Given the description of an element on the screen output the (x, y) to click on. 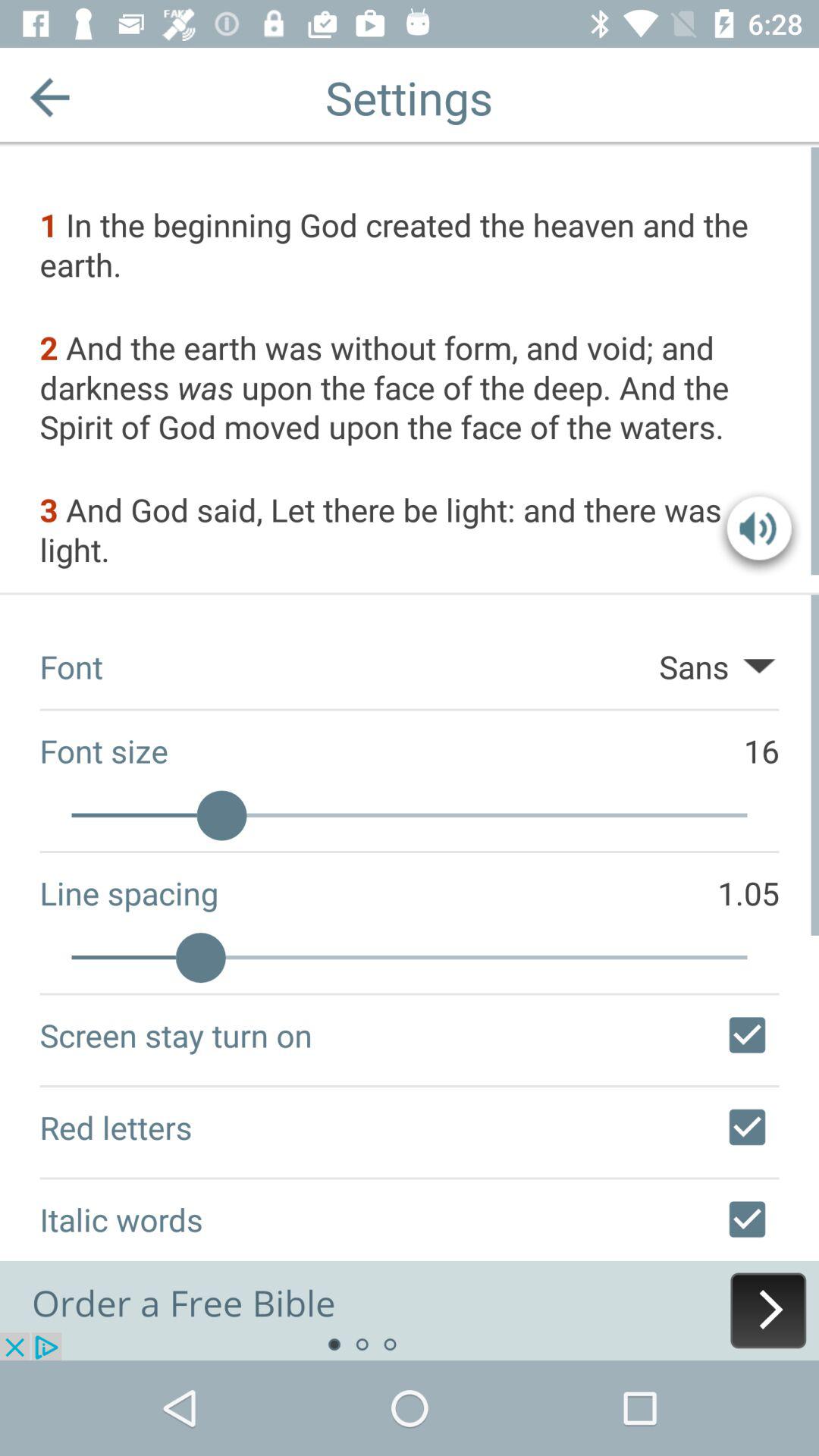
unselect red letters (747, 1127)
